Given the description of an element on the screen output the (x, y) to click on. 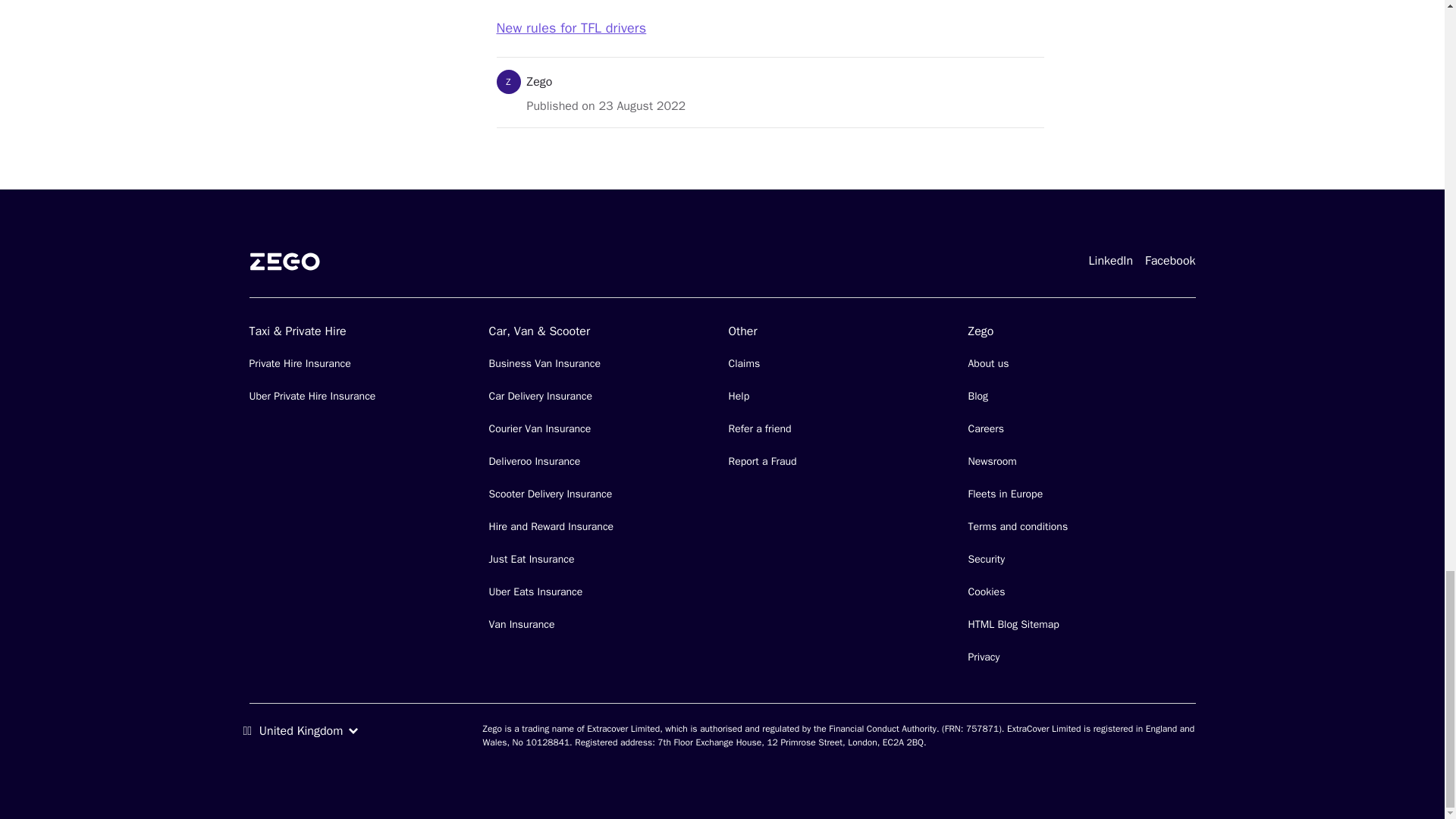
LinkedIn (1110, 259)
Scooter Delivery Insurance (549, 493)
Uber Private Hire Insurance (311, 396)
Courier Van Insurance (539, 428)
New rules for TFL drivers (571, 27)
Facebook (1169, 259)
Zego (538, 81)
Business Van Insurance (543, 363)
Private Hire Insurance (299, 363)
Hire and Reward Insurance (549, 526)
